Given the description of an element on the screen output the (x, y) to click on. 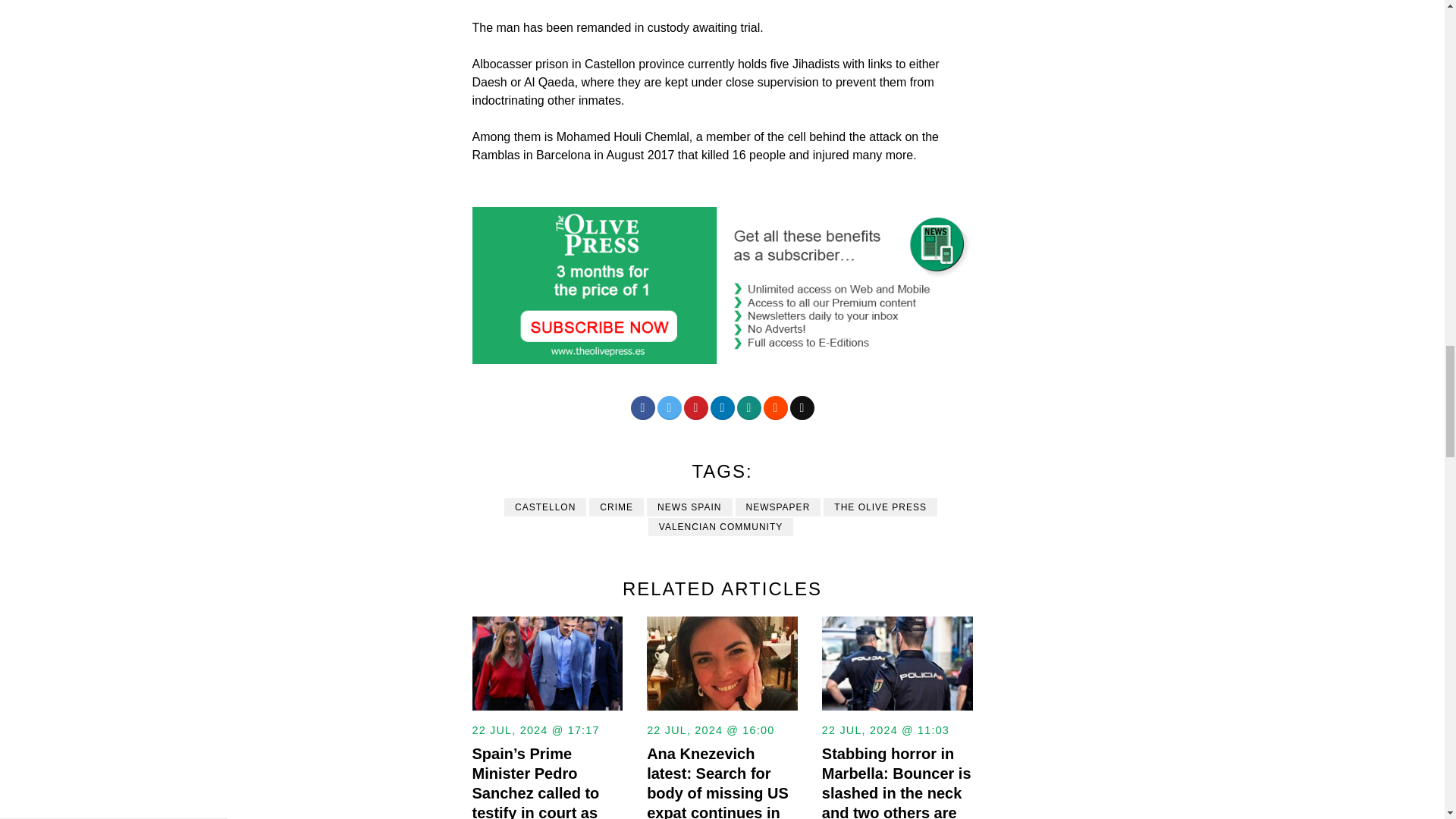
22 Jul, 2024 17:17:17 (534, 729)
22 Jul, 2024 11:57:03 (885, 729)
22 Jul, 2024 16:11:00 (710, 729)
